Given the description of an element on the screen output the (x, y) to click on. 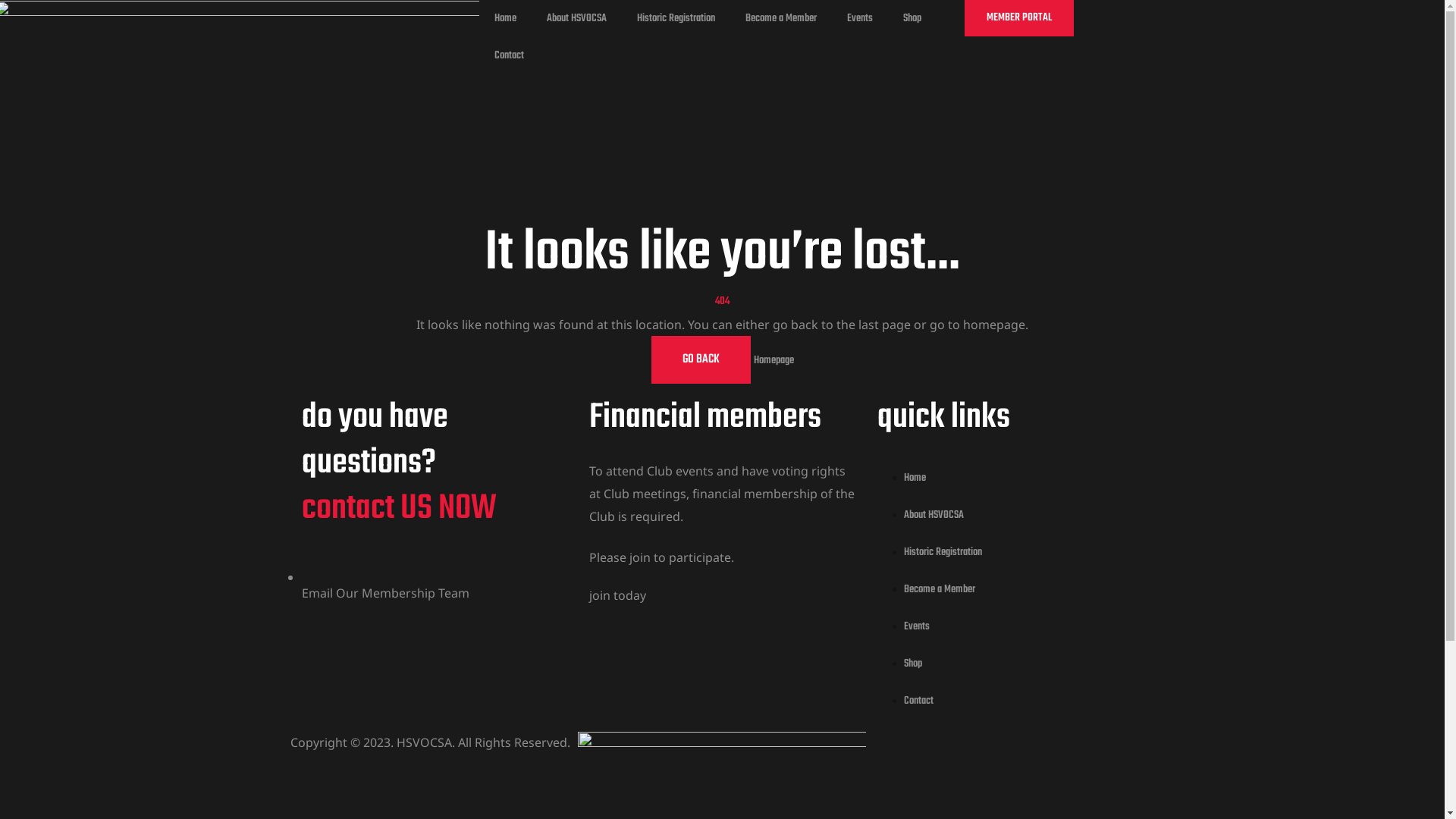
GO BACK Element type: text (699, 359)
About HSVOCSA Element type: text (1009, 514)
About HSVOCSA Element type: text (576, 18)
MEMBER PORTAL Element type: text (1018, 18)
join today Element type: text (617, 594)
Shop Element type: text (912, 18)
Home Element type: text (505, 18)
Homepage Element type: text (773, 360)
Become a Member Element type: text (1009, 589)
Historic Registration Element type: text (1009, 552)
Historic Registration Element type: text (675, 18)
Events Element type: text (1009, 626)
Contact Element type: text (1009, 700)
Home Element type: text (1009, 477)
Shop Element type: text (1009, 663)
Become a Member Element type: text (780, 18)
Events Element type: text (859, 18)
Email Our Membership Team Element type: text (385, 594)
Contact Element type: text (509, 55)
